Given the description of an element on the screen output the (x, y) to click on. 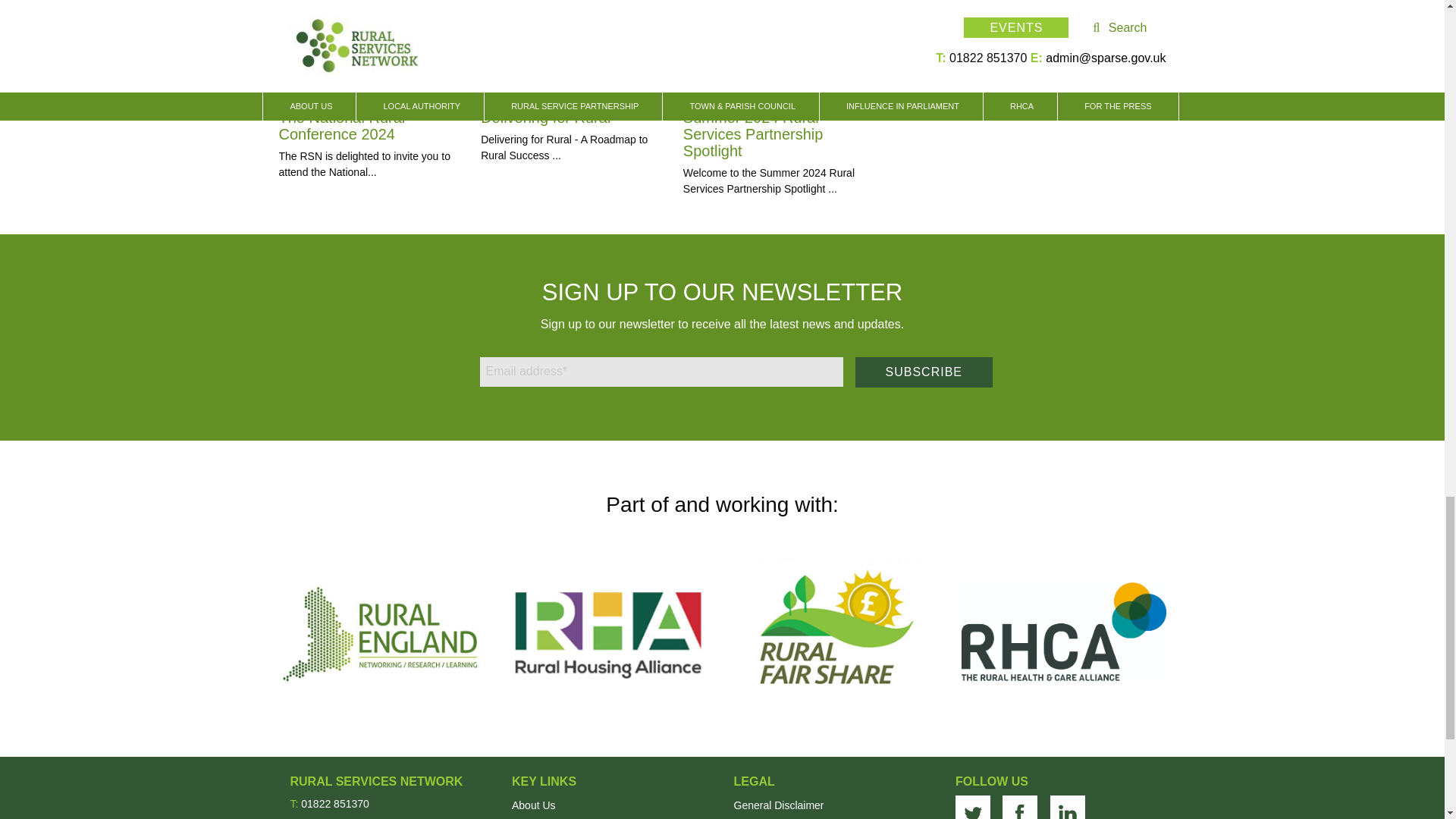
SUBSCRIBE (924, 372)
